Given the description of an element on the screen output the (x, y) to click on. 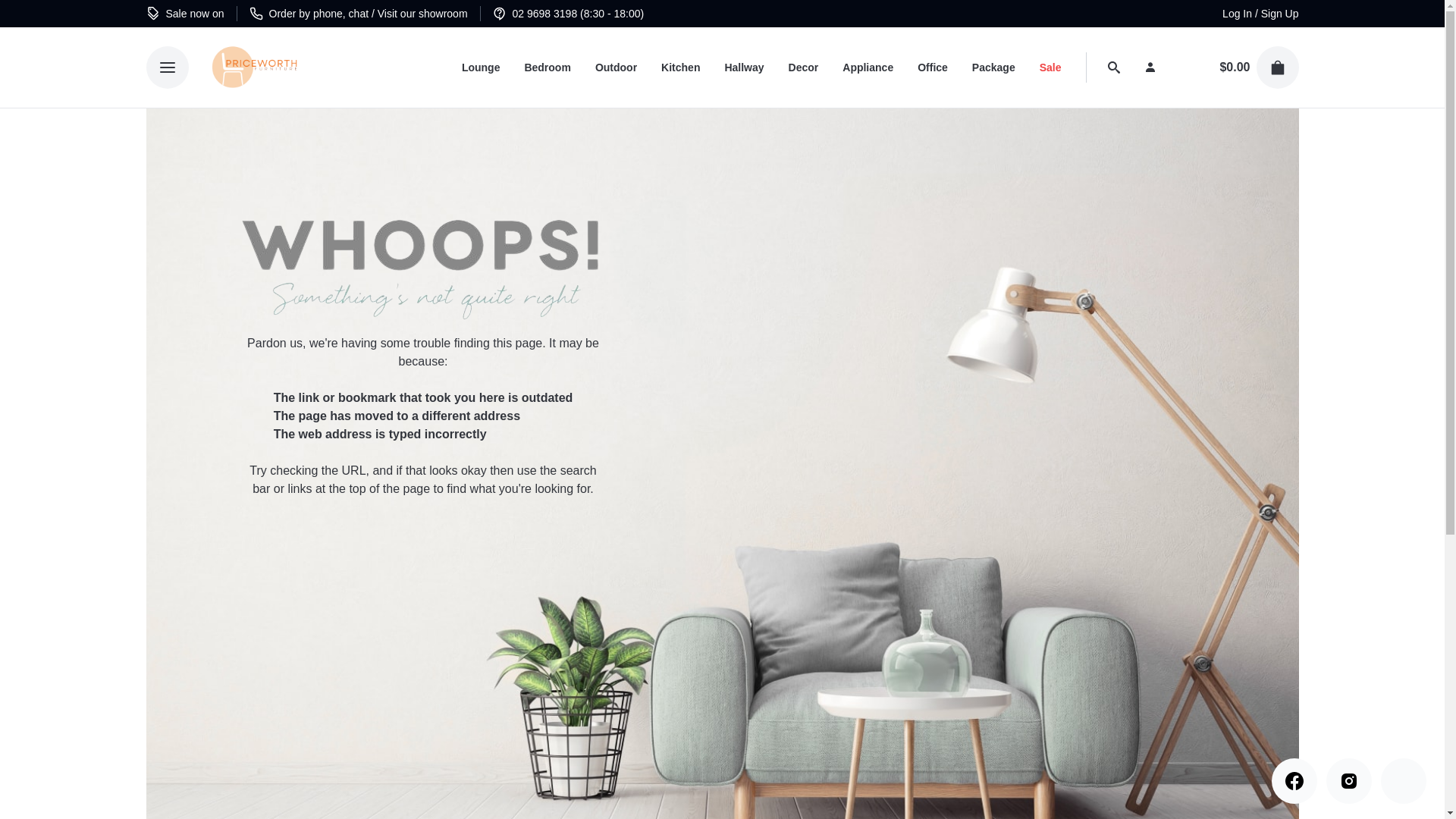
Kitchen (680, 66)
Sale now on (184, 13)
Lounge (480, 66)
Appliance (868, 66)
Package (993, 66)
Bedroom (547, 66)
Outdoor (616, 66)
Hallway (742, 66)
